Given the description of an element on the screen output the (x, y) to click on. 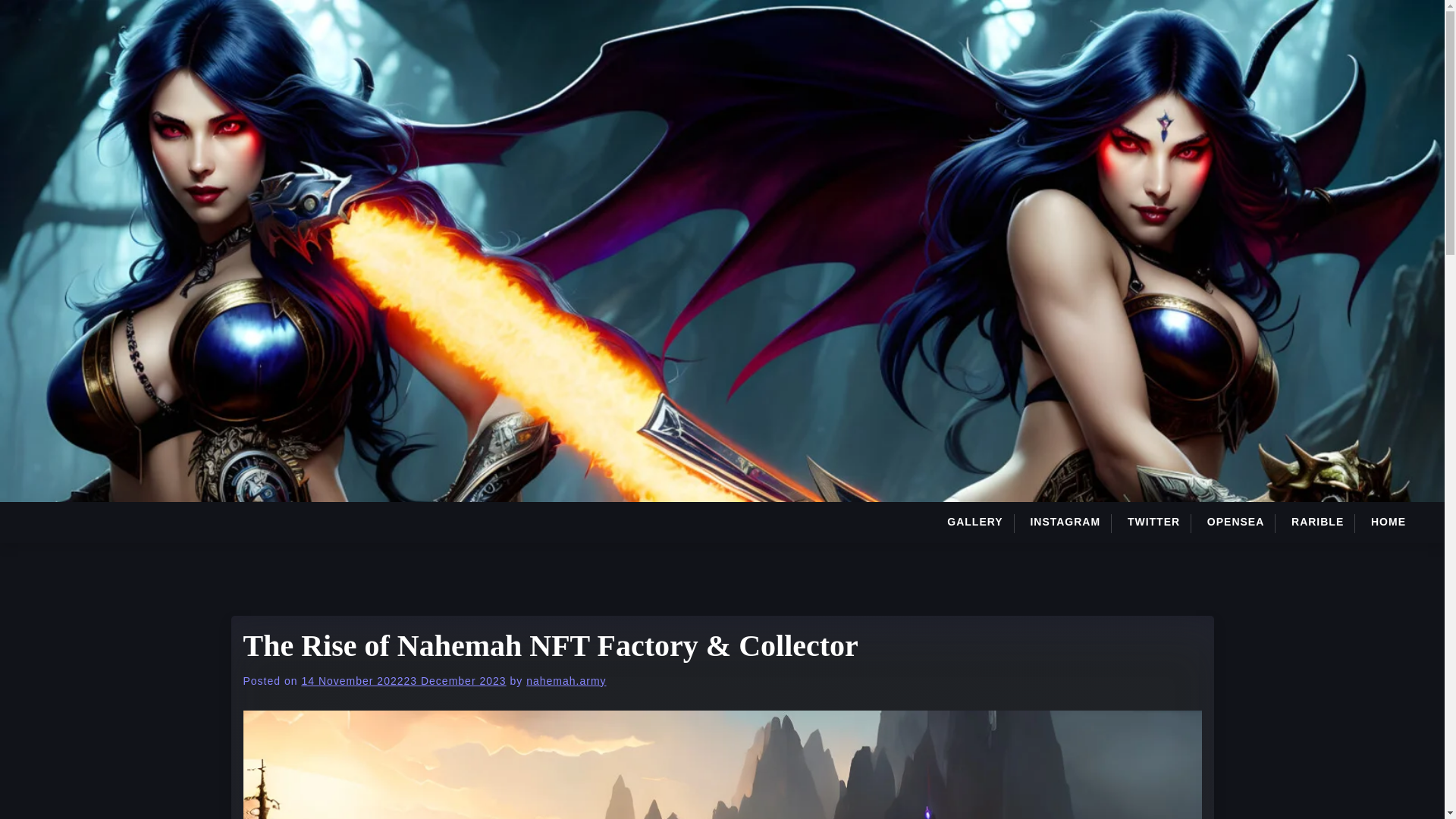
14 November 202223 December 2023 (403, 681)
TWITTER (1153, 522)
OPENSEA (1235, 522)
INSTAGRAM (1064, 522)
GALLERY (980, 522)
nahemah.army (565, 681)
HOME (1387, 522)
RARIBLE (1317, 522)
